Given the description of an element on the screen output the (x, y) to click on. 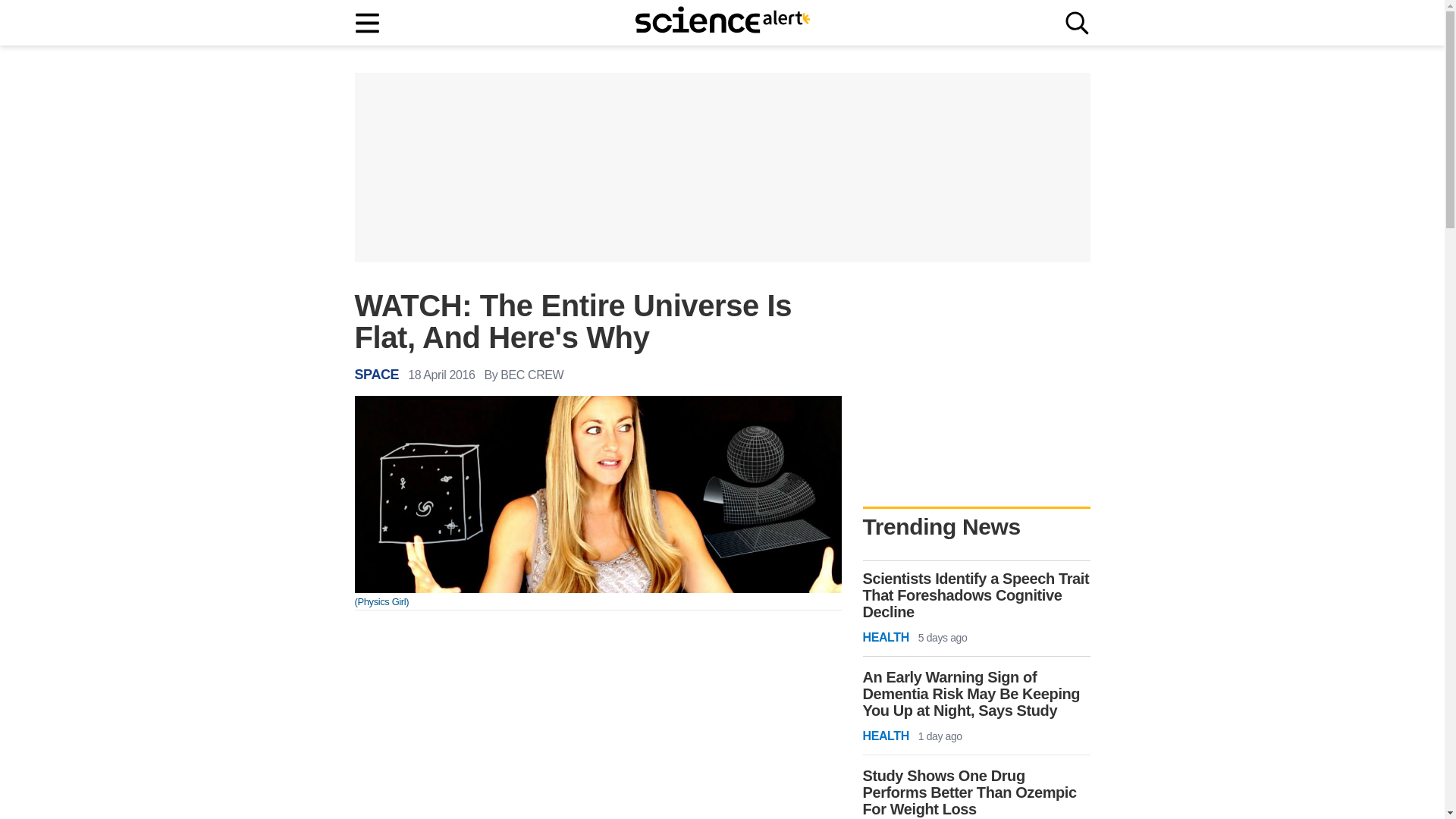
SPACE (376, 374)
